Given the description of an element on the screen output the (x, y) to click on. 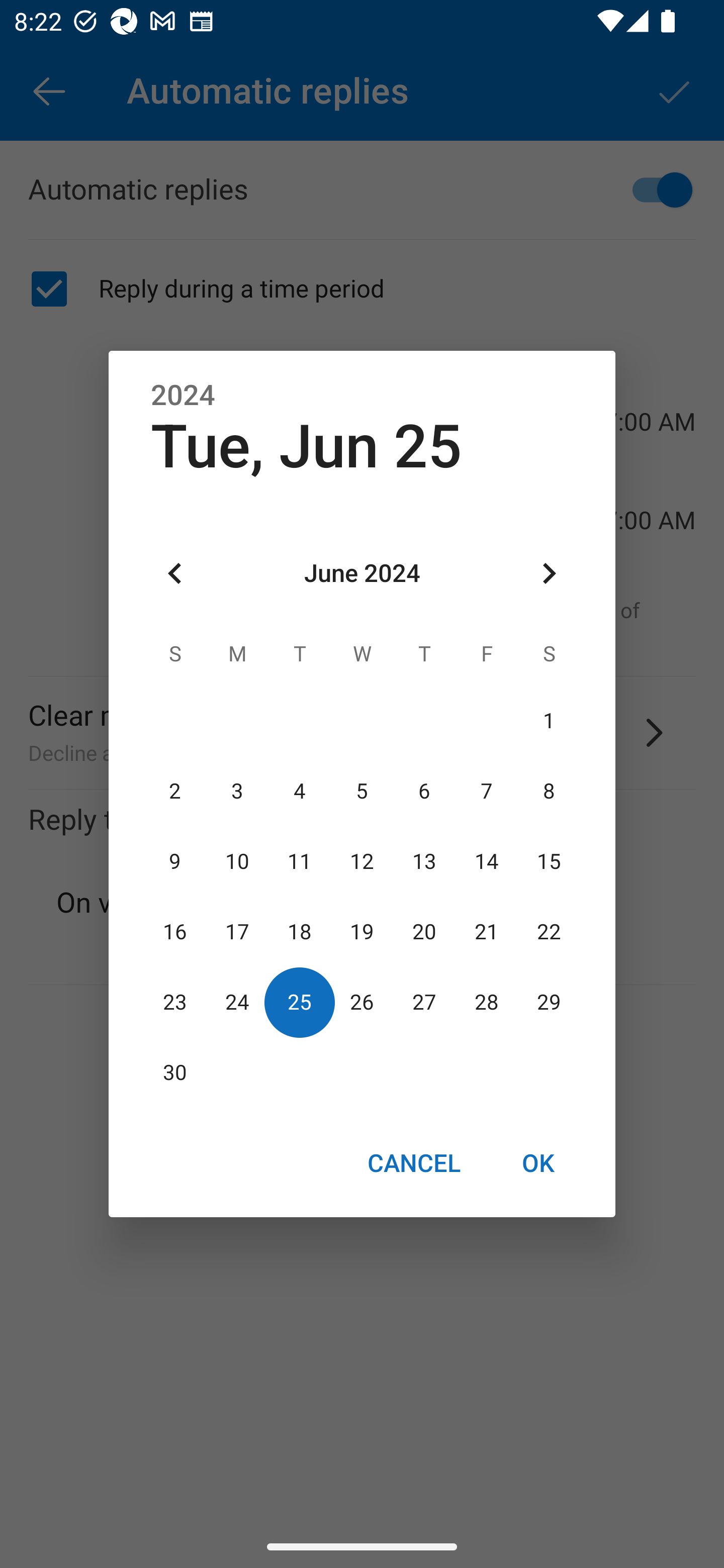
2024 (182, 395)
Tue, Jun 25 (306, 446)
Previous month (174, 573)
Next month (548, 573)
1 01 June 2024 (548, 720)
2 02 June 2024 (175, 790)
3 03 June 2024 (237, 790)
4 04 June 2024 (299, 790)
5 05 June 2024 (361, 790)
6 06 June 2024 (424, 790)
7 07 June 2024 (486, 790)
8 08 June 2024 (548, 790)
9 09 June 2024 (175, 861)
10 10 June 2024 (237, 861)
11 11 June 2024 (299, 861)
12 12 June 2024 (361, 861)
13 13 June 2024 (424, 861)
14 14 June 2024 (486, 861)
15 15 June 2024 (548, 861)
16 16 June 2024 (175, 931)
17 17 June 2024 (237, 931)
18 18 June 2024 (299, 931)
19 19 June 2024 (361, 931)
20 20 June 2024 (424, 931)
21 21 June 2024 (486, 931)
22 22 June 2024 (548, 931)
23 23 June 2024 (175, 1002)
24 24 June 2024 (237, 1002)
25 25 June 2024 (299, 1002)
26 26 June 2024 (361, 1002)
27 27 June 2024 (424, 1002)
28 28 June 2024 (486, 1002)
29 29 June 2024 (548, 1002)
30 30 June 2024 (175, 1073)
CANCEL (413, 1162)
OK (537, 1162)
